Given the description of an element on the screen output the (x, y) to click on. 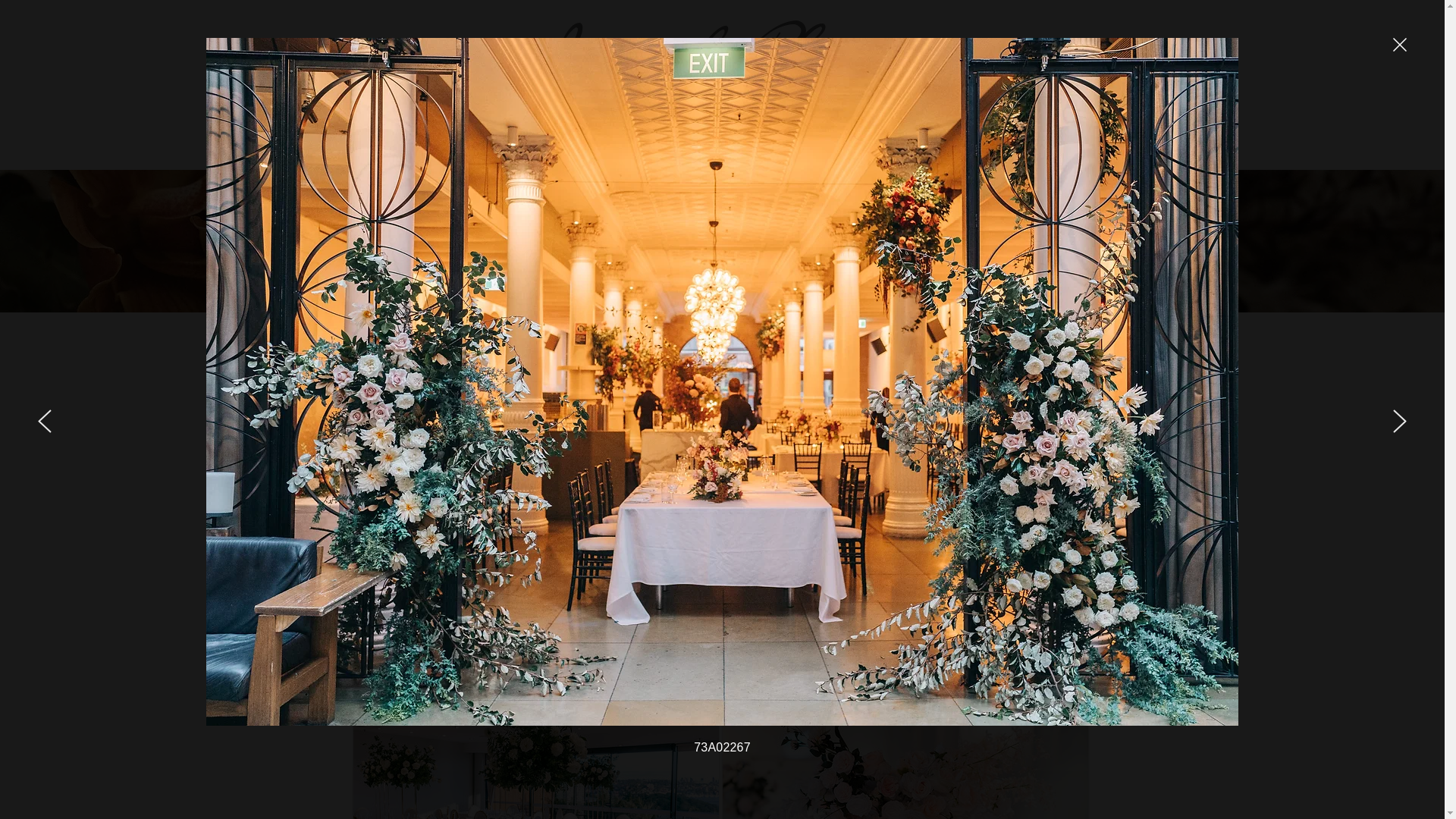
Weddings Element type: text (526, 151)
Venues Element type: text (883, 151)
About Element type: text (437, 151)
Book Online Element type: text (1090, 151)
Home Element type: text (362, 151)
FAQ Element type: text (809, 151)
Packages Element type: text (626, 151)
Contact Us Element type: text (978, 151)
Inspiration Element type: text (727, 151)
